Given the description of an element on the screen output the (x, y) to click on. 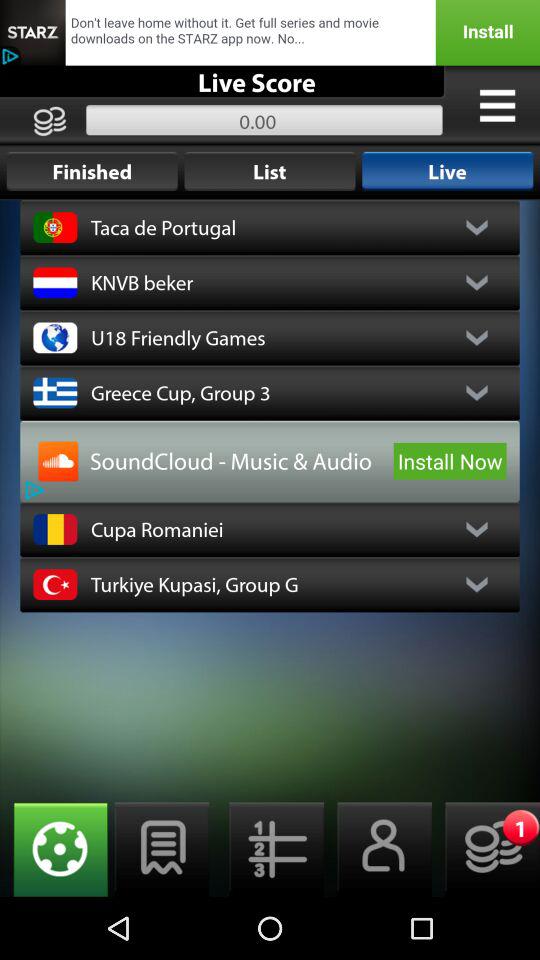
go to setting (54, 849)
